Given the description of an element on the screen output the (x, y) to click on. 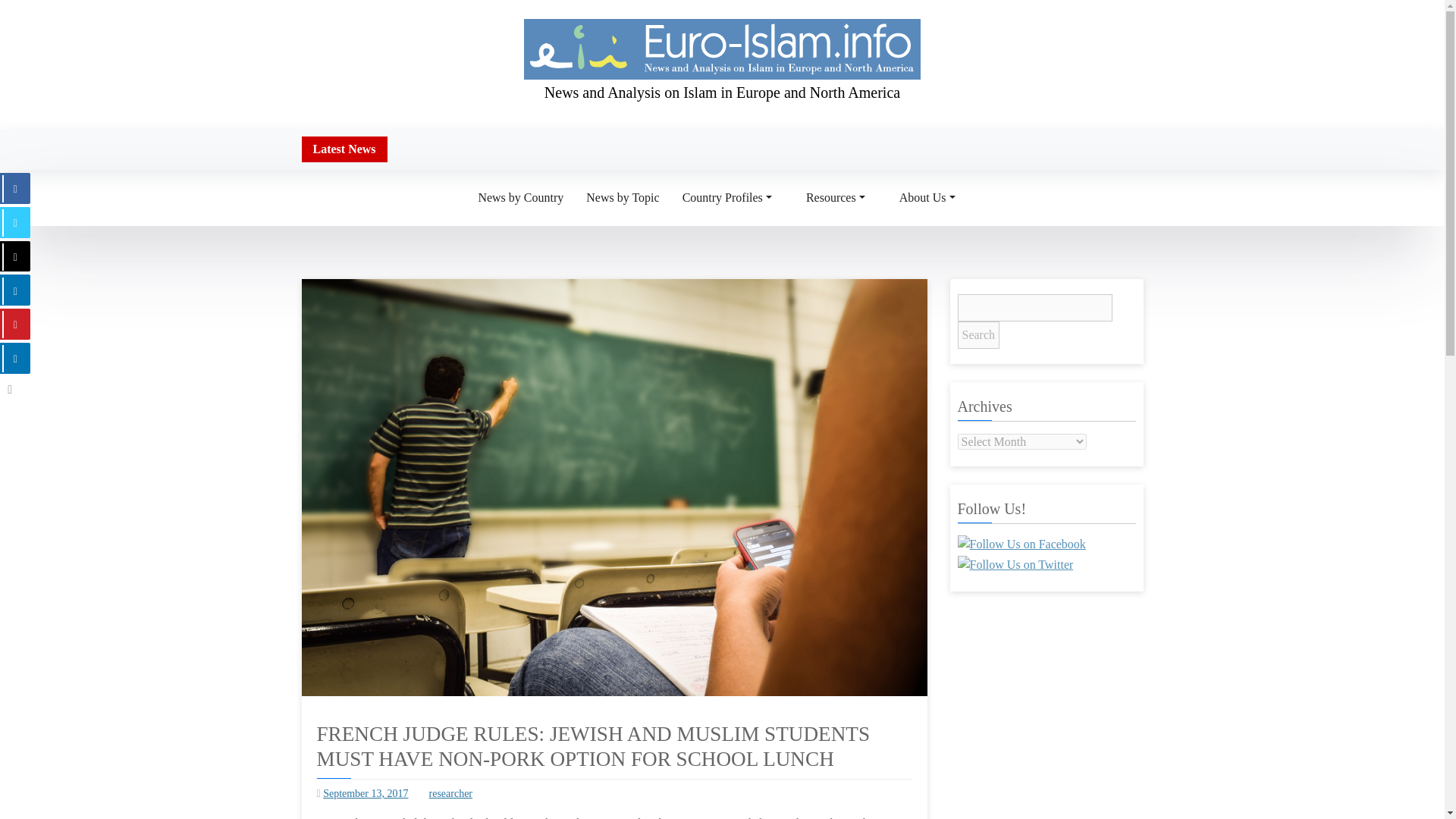
Search (977, 334)
Follow Us on Twitter (1014, 565)
Follow Us on Facebook (1020, 544)
